Given the description of an element on the screen output the (x, y) to click on. 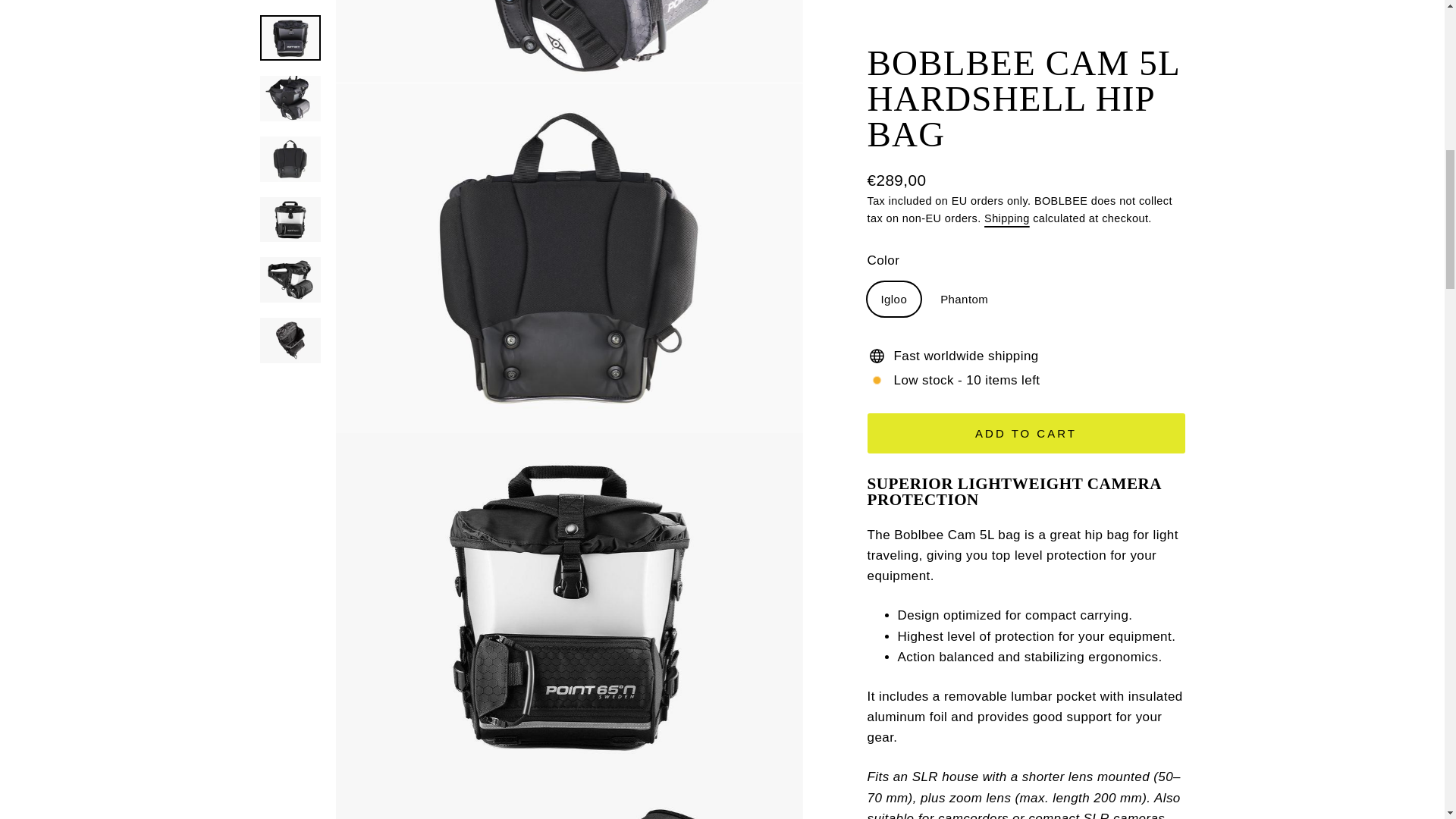
Share on Facebook (990, 818)
ICON-HAMBURGER (130, 47)
Pin on Pinterest (1064, 818)
